Given the description of an element on the screen output the (x, y) to click on. 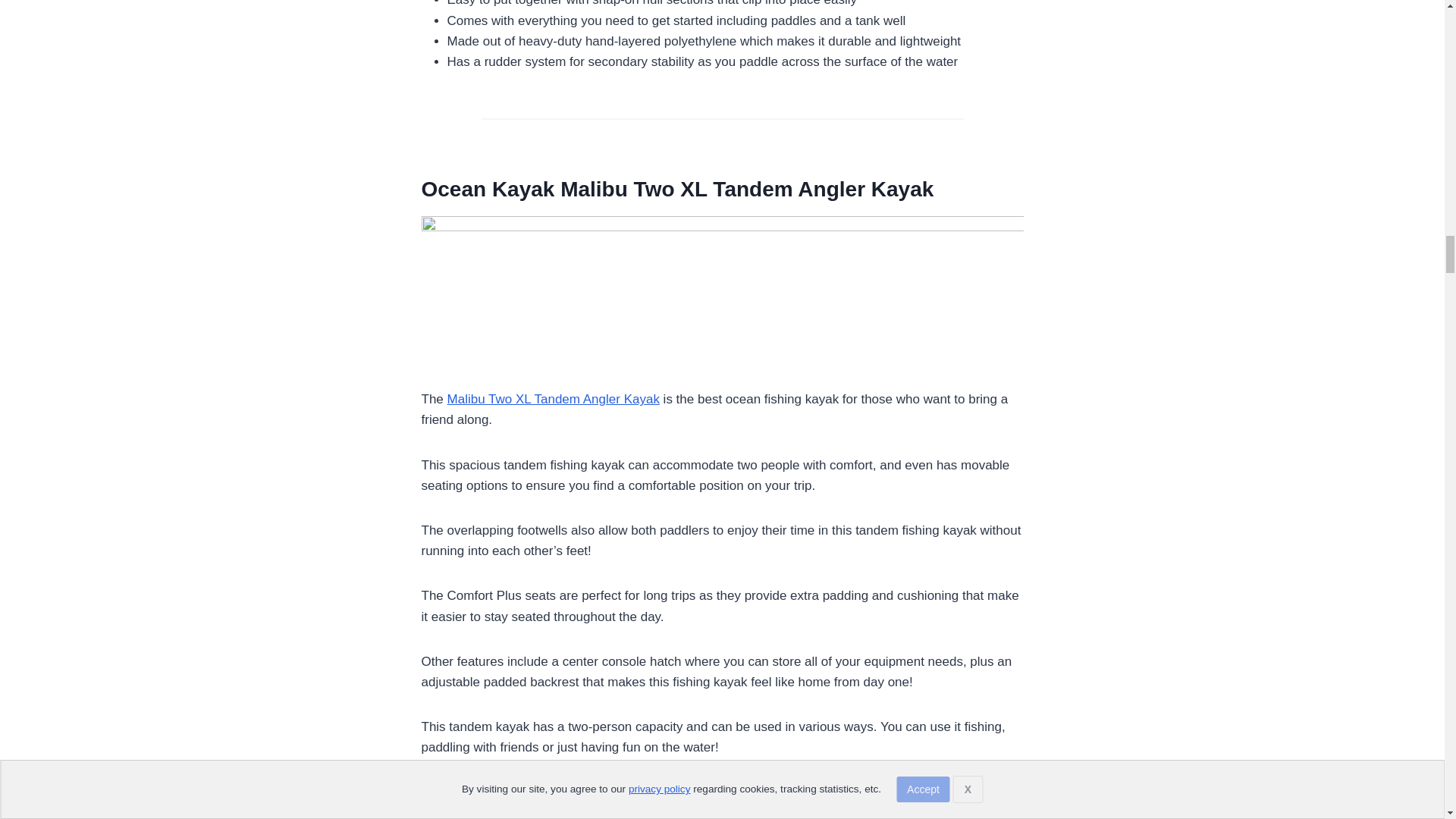
Ocean Kayak Malibu Two XL Tandem Angler Kayak (678, 188)
Malibu Two XL Tandem Angler Kayak (552, 399)
